Given the description of an element on the screen output the (x, y) to click on. 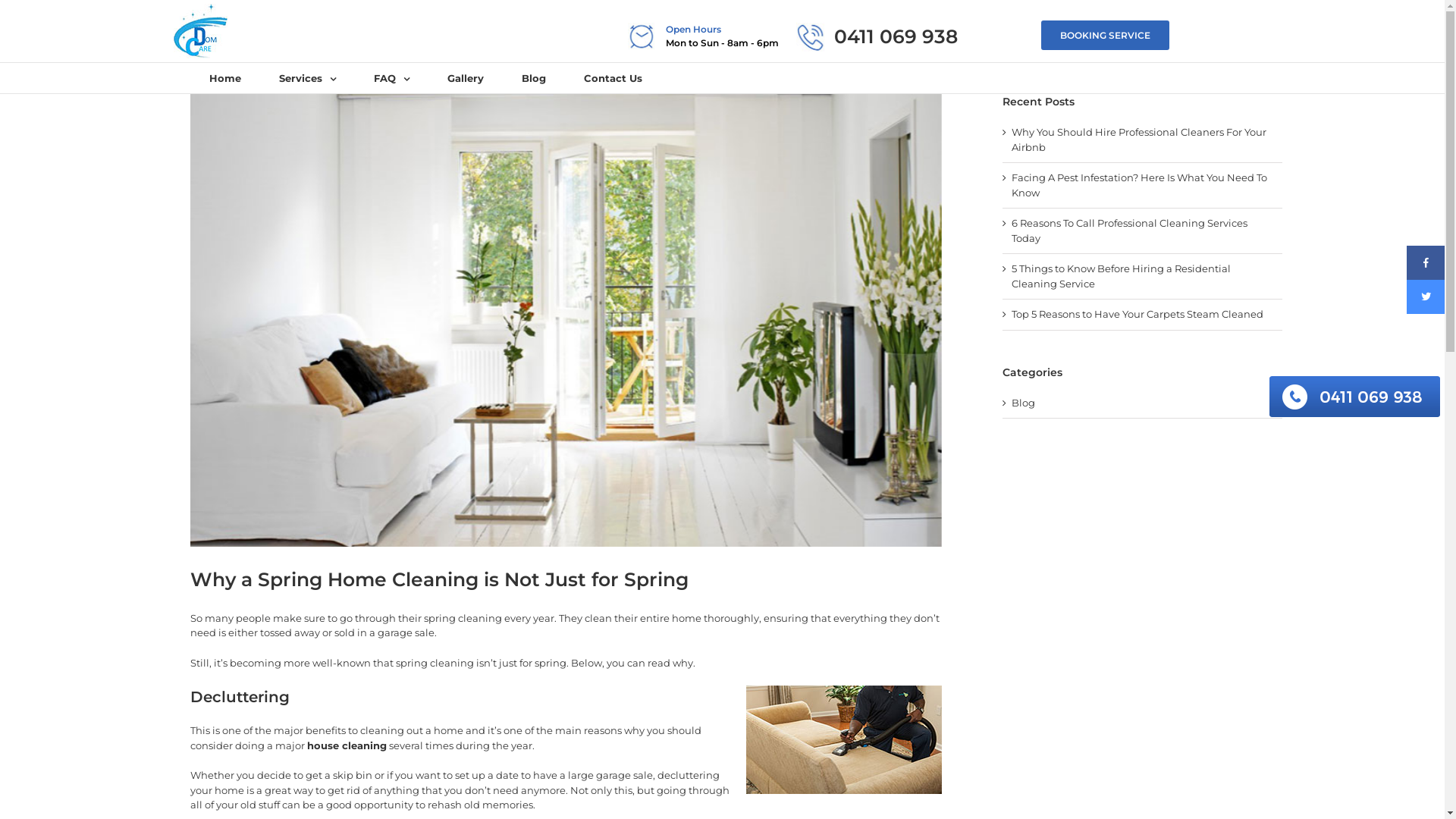
Blog Element type: text (1142, 403)
house cleaning Element type: text (346, 745)
Gallery Element type: text (465, 77)
Why You Should Hire Professional Cleaners For Your Airbnb Element type: text (1138, 139)
Contact Us Element type: text (612, 77)
Blog Element type: text (533, 77)
Services Element type: text (307, 77)
FAQ Element type: text (391, 77)
View Larger Image Element type: text (565, 320)
Home Element type: text (225, 77)
0411 069 938 Element type: text (895, 36)
Top 5 Reasons to Have Your Carpets Steam Cleaned Element type: text (1137, 313)
BOOKING SERVICE Element type: text (1105, 35)
6 Reasons To Call Professional Cleaning Services Today Element type: text (1129, 230)
Facing A Pest Infestation? Here Is What You Need To Know Element type: text (1139, 184)
